Given the description of an element on the screen output the (x, y) to click on. 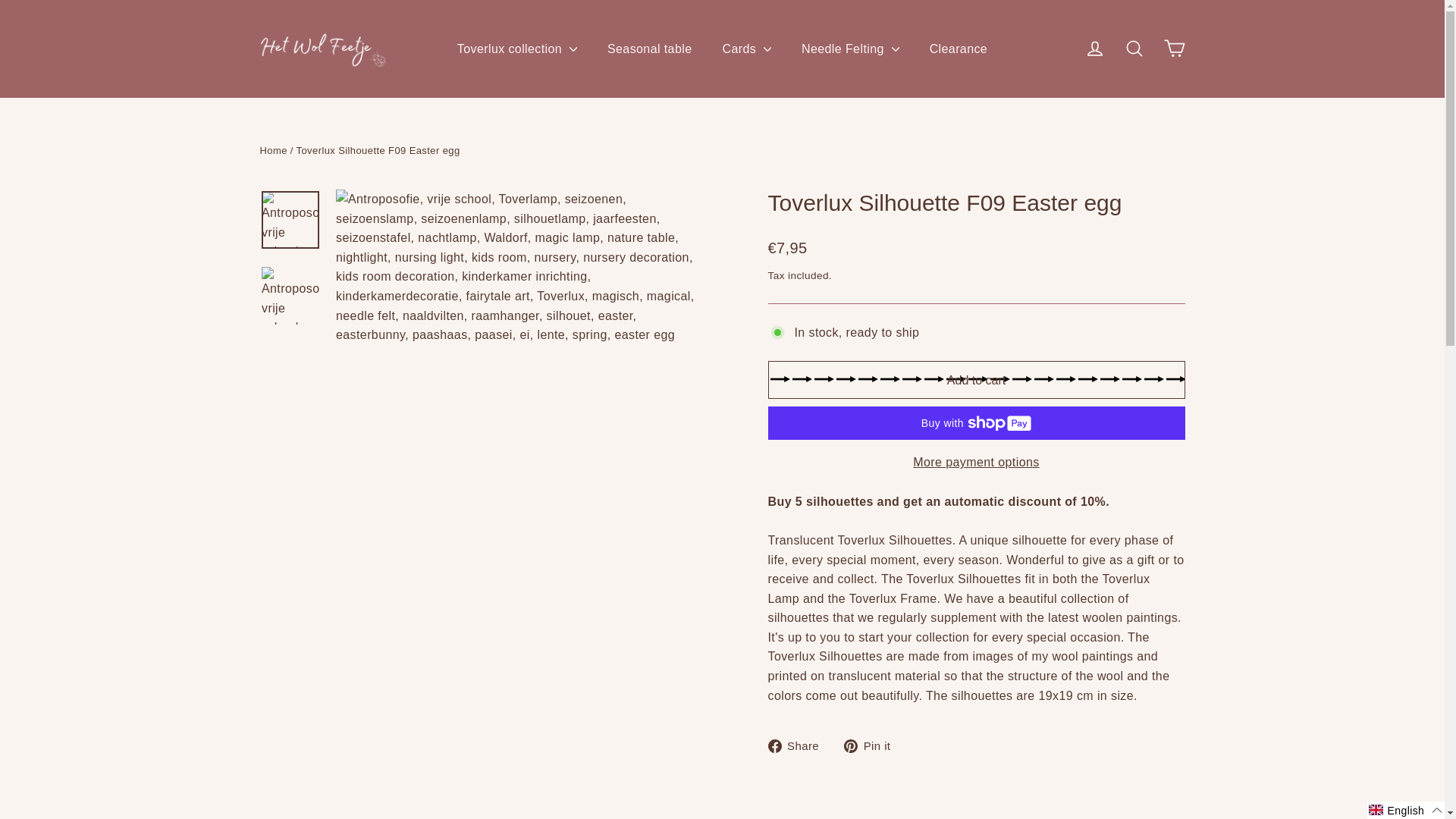
Seasonal table (649, 48)
Cards (746, 48)
Pin on Pinterest (872, 745)
Back to the frontpage (272, 150)
Share on Facebook (798, 745)
Toverlux collection (517, 48)
